Given the description of an element on the screen output the (x, y) to click on. 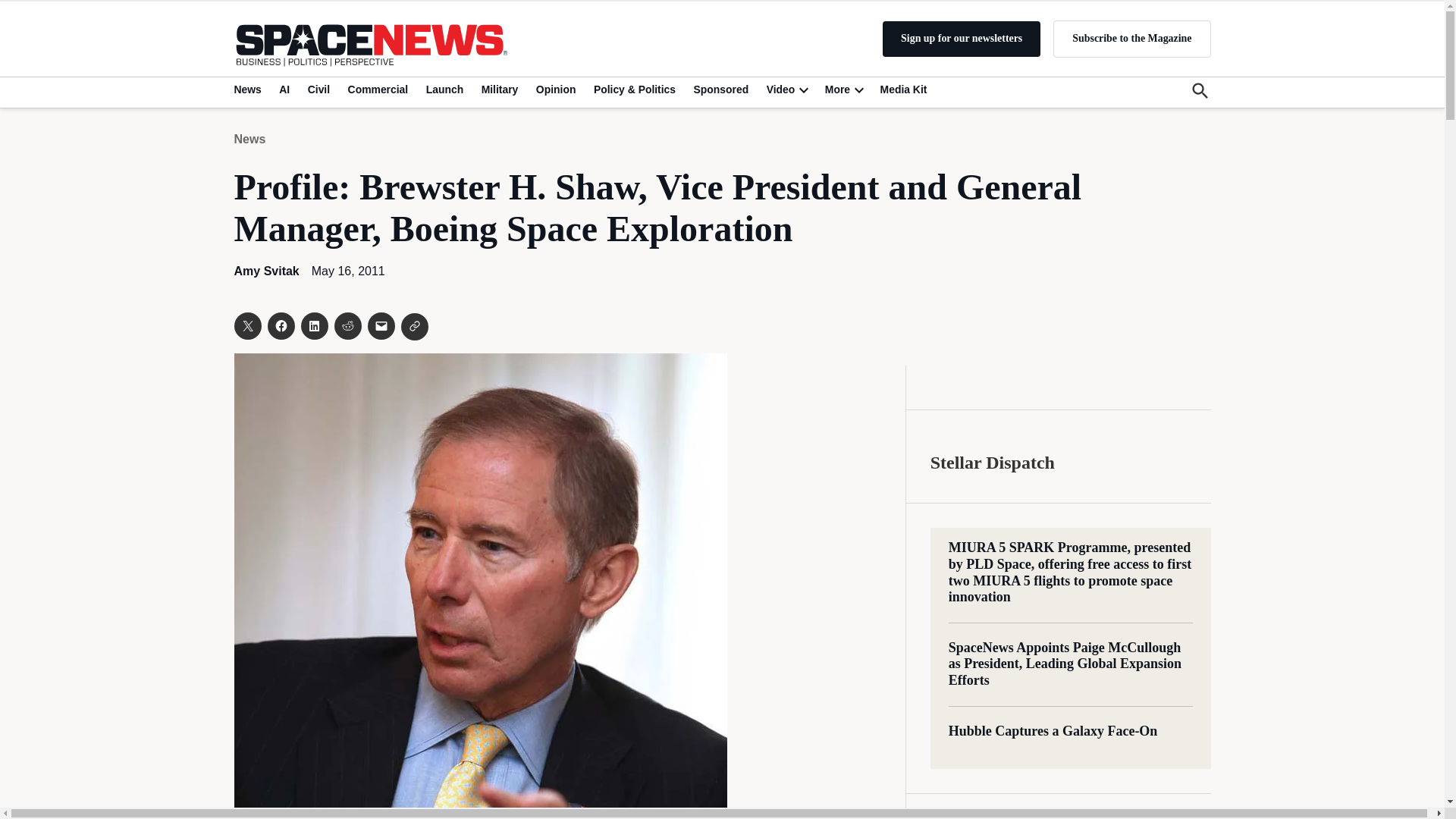
Click to share on Facebook (280, 325)
Sign up for our newsletters (961, 38)
Click to share on Reddit (347, 325)
Click to share on X (246, 325)
Civil (318, 89)
Click to share on Clipboard (414, 326)
Click to email a link to a friend (380, 325)
News (249, 89)
AI (284, 89)
Click to share on LinkedIn (313, 325)
Subscribe to the Magazine (1130, 38)
